Given the description of an element on the screen output the (x, y) to click on. 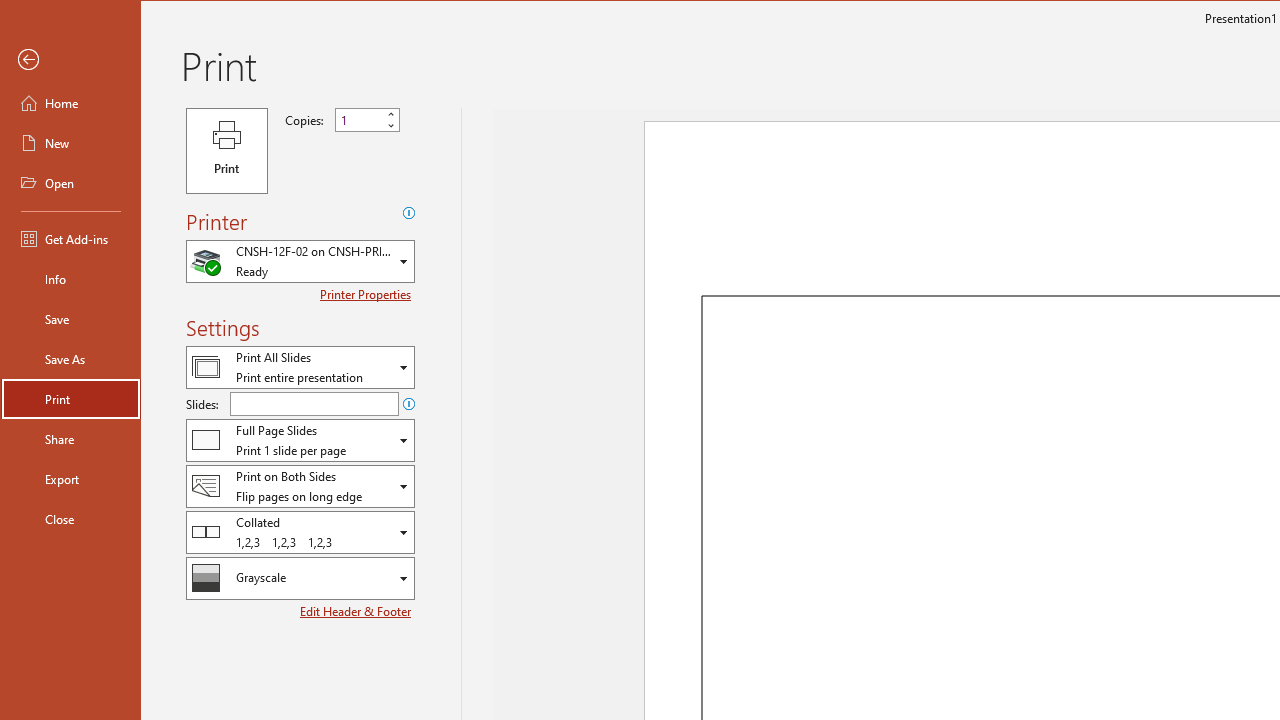
Which Printer (299, 260)
Print (70, 398)
Back (70, 60)
Edit Header & Footer (356, 611)
Slides (314, 403)
Collation (299, 532)
Color/Grayscale (299, 578)
Print (226, 150)
Save As (70, 358)
Print What (299, 367)
